Given the description of an element on the screen output the (x, y) to click on. 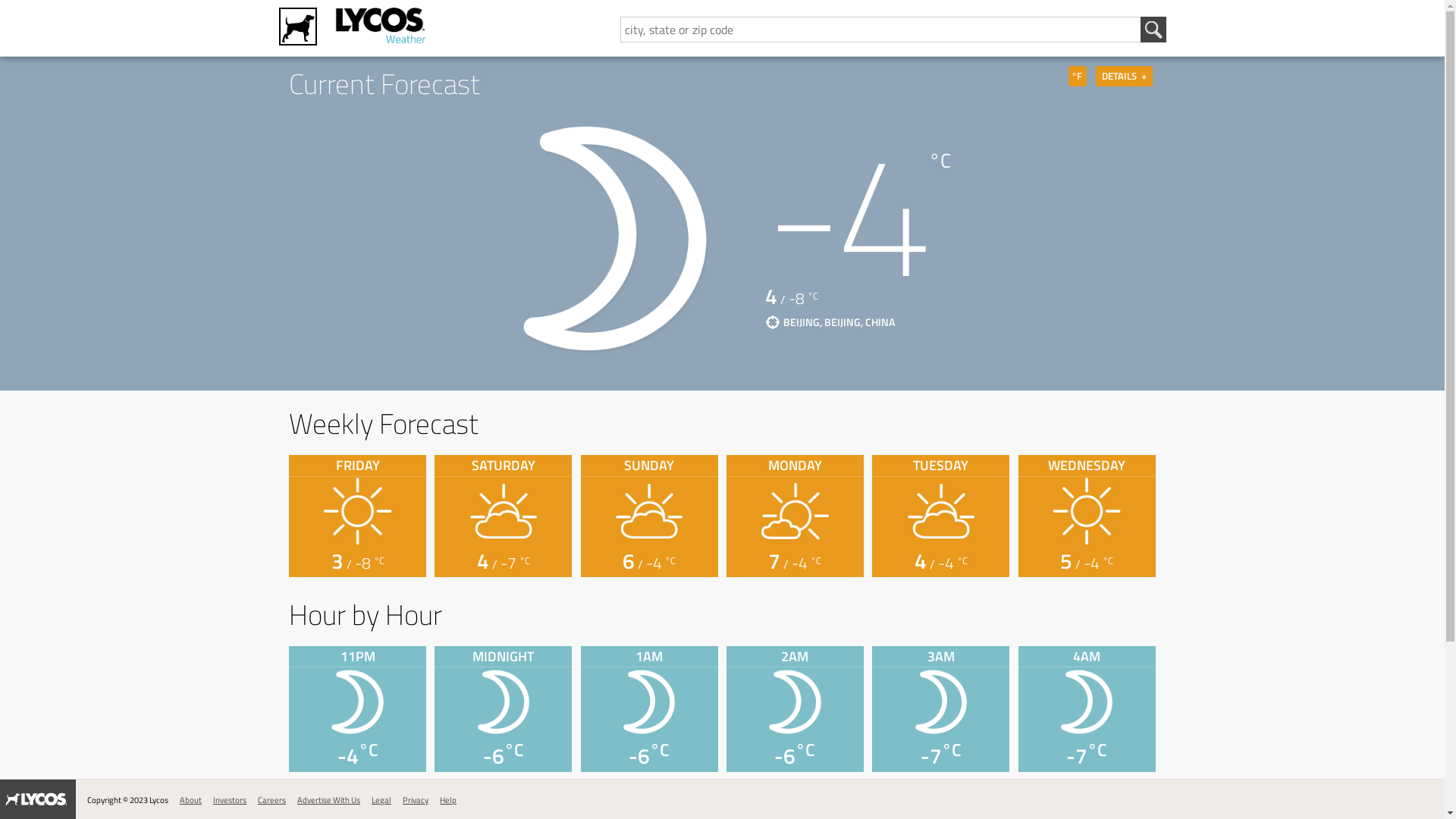
Mostly cloudy, breezy and chilly Element type: hover (940, 510)
night_clear Element type: hover (1086, 701)
DETAILS  + Element type: text (1123, 75)
Search Element type: text (1153, 29)
TEMPS  + Element type: text (317, 75)
Chilly with sunshine and some clouds Element type: hover (503, 510)
night_clear Element type: hover (649, 701)
night_clear Element type: hover (503, 701)
Mostly sunny; breezy in the afternoon Element type: hover (794, 510)
BEIJING, BEIJING, CHINA Element type: text (829, 321)
night_clear Element type: hover (357, 701)
Plenty of sunshine Element type: hover (1086, 510)
Get your weather details from Lycos Weather Element type: hover (379, 26)
night_clear Element type: hover (940, 701)
night_clear Element type: hover (794, 701)
Mostly cloudy Element type: hover (649, 510)
Plenty of sunshine, but chilly Element type: hover (357, 510)
Lycos Weather Element type: hover (381, 26)
